Given the description of an element on the screen output the (x, y) to click on. 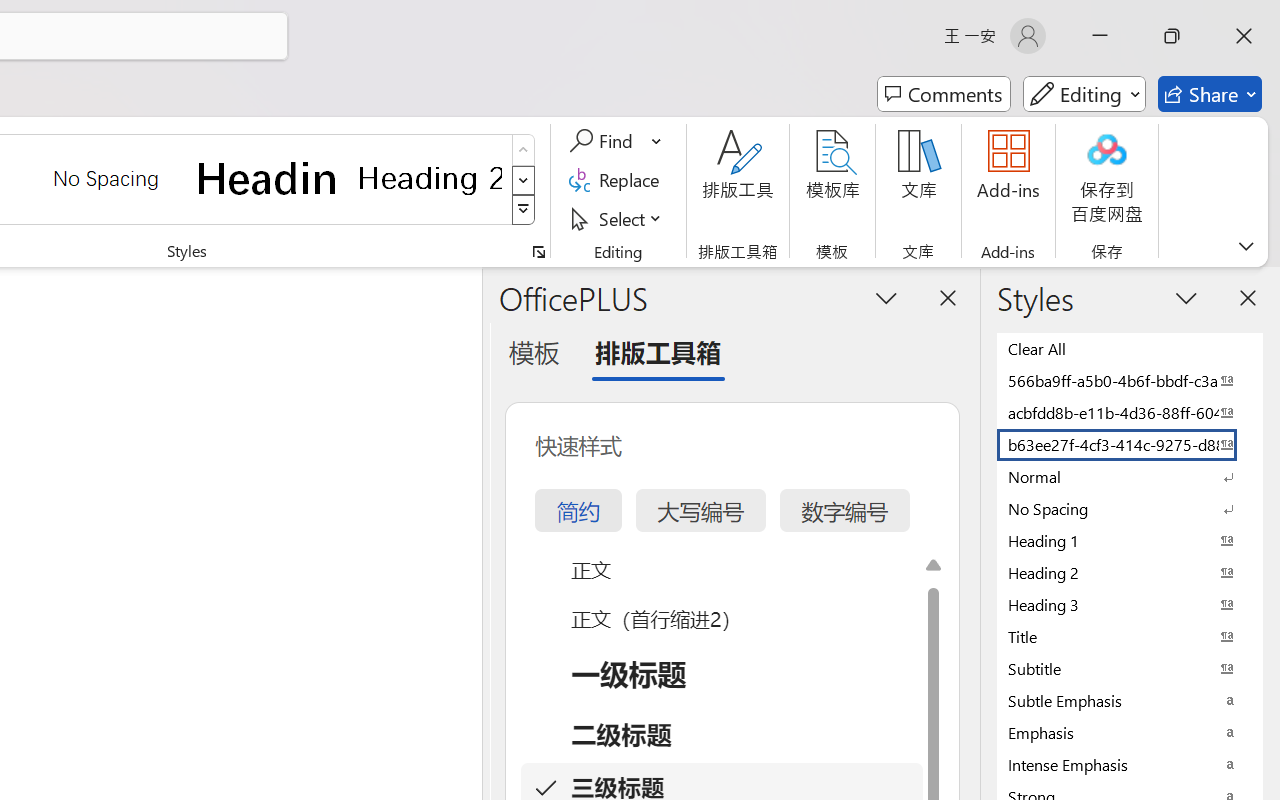
Emphasis (1130, 732)
Heading 2 (429, 178)
Task Pane Options (886, 297)
Styles... (538, 252)
Styles (523, 209)
No Spacing (1130, 508)
